Given the description of an element on the screen output the (x, y) to click on. 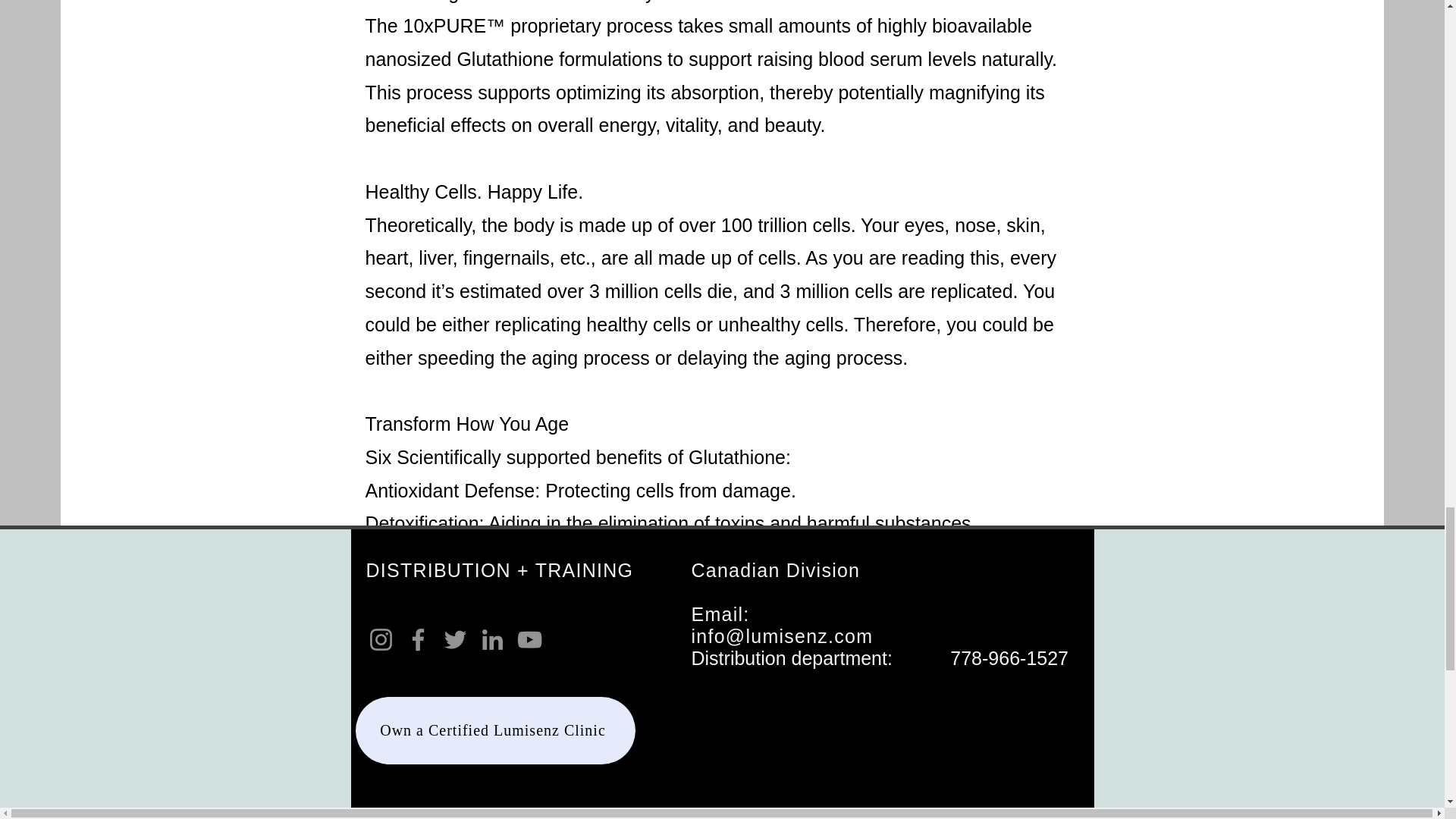
SHOP (720, 805)
